Given the description of an element on the screen output the (x, y) to click on. 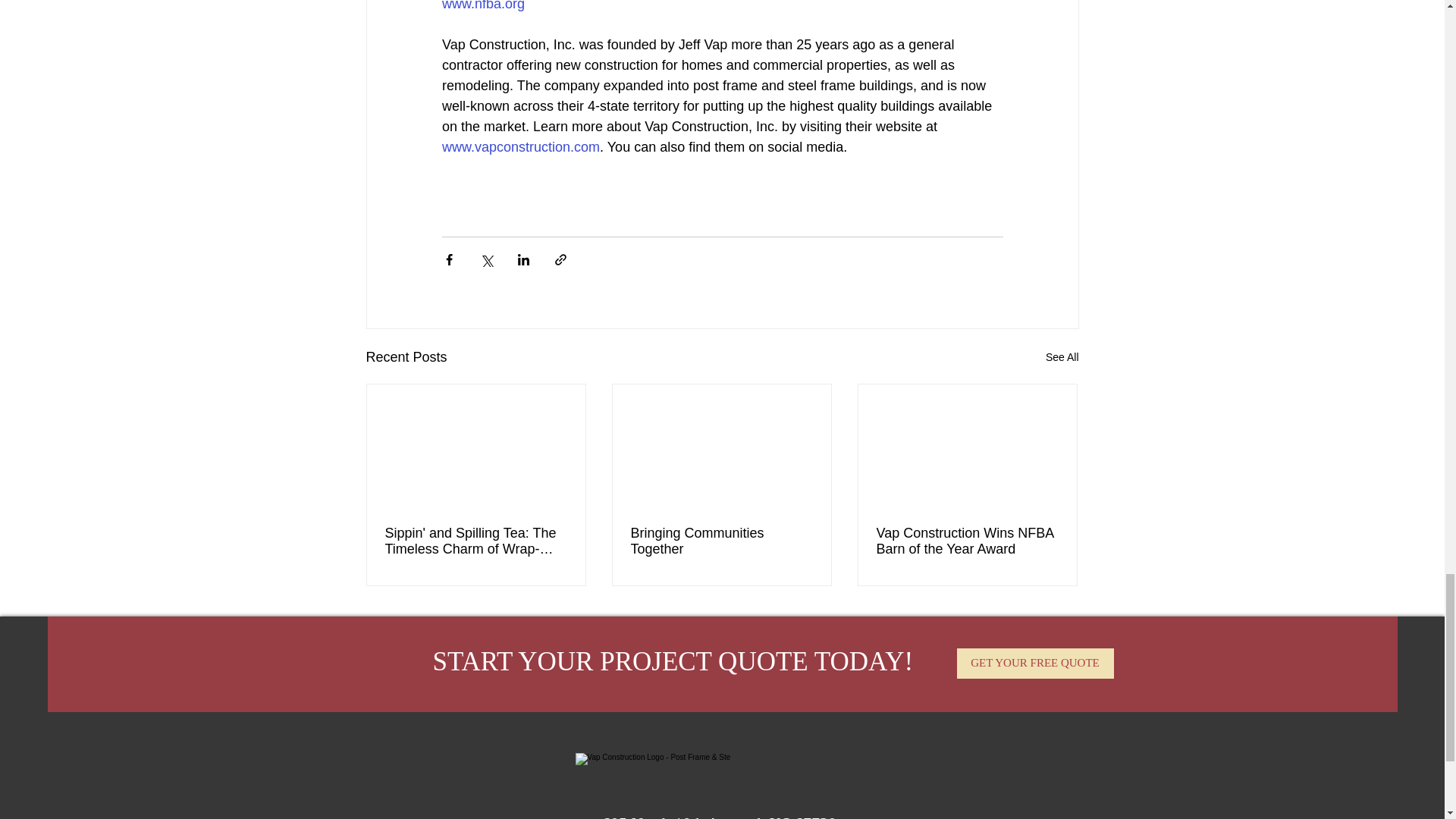
Bringing Communities Together (721, 541)
www.nfba.org (482, 5)
See All (1061, 357)
www.vapconstruction.com (519, 146)
